Given the description of an element on the screen output the (x, y) to click on. 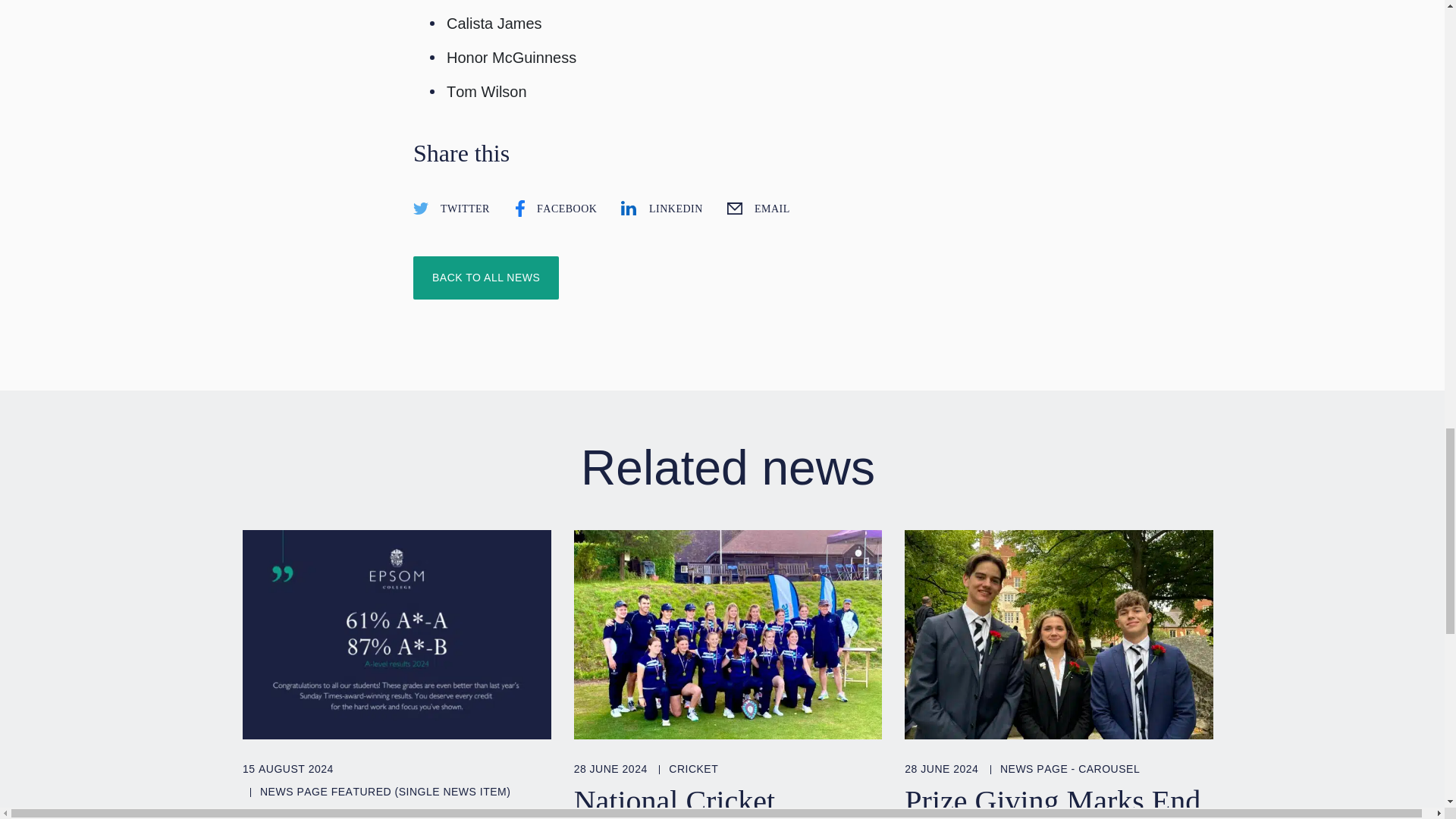
TWITTER (450, 208)
LINKEDIN (660, 207)
FACEBOOK (554, 208)
EMAIL (756, 208)
